Given the description of an element on the screen output the (x, y) to click on. 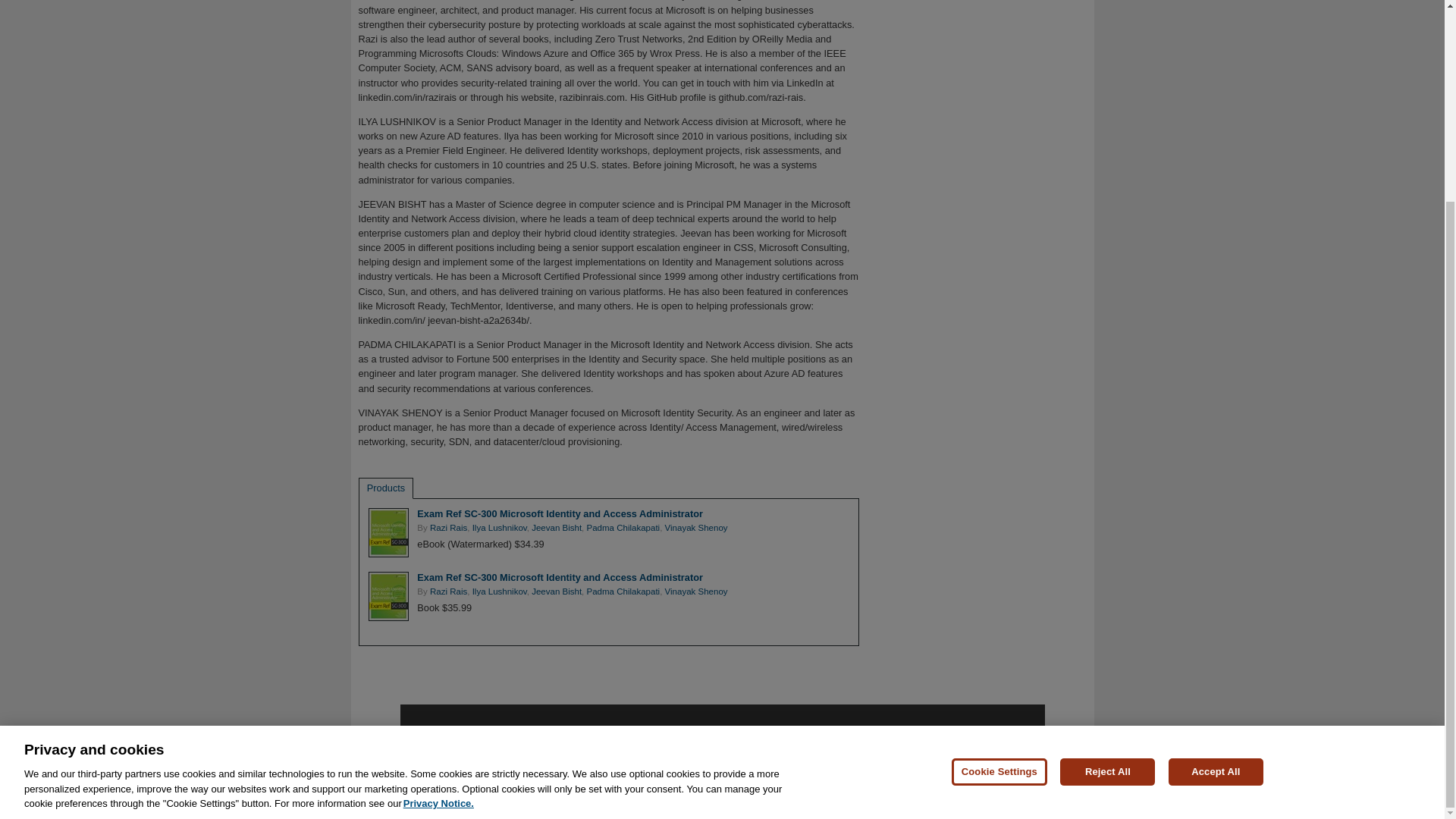
Jeevan Bisht (555, 591)
Padma Chilakapati (623, 527)
Vinayak Shenoy (696, 527)
Jeevan Bisht (555, 527)
Products (386, 487)
Padma Chilakapati (623, 591)
Exam Ref SC-300 Microsoft Identity and Access Administrator (559, 577)
Razi Rais (448, 527)
Ilya Lushnikov (499, 527)
Ilya Lushnikov (499, 591)
